Given the description of an element on the screen output the (x, y) to click on. 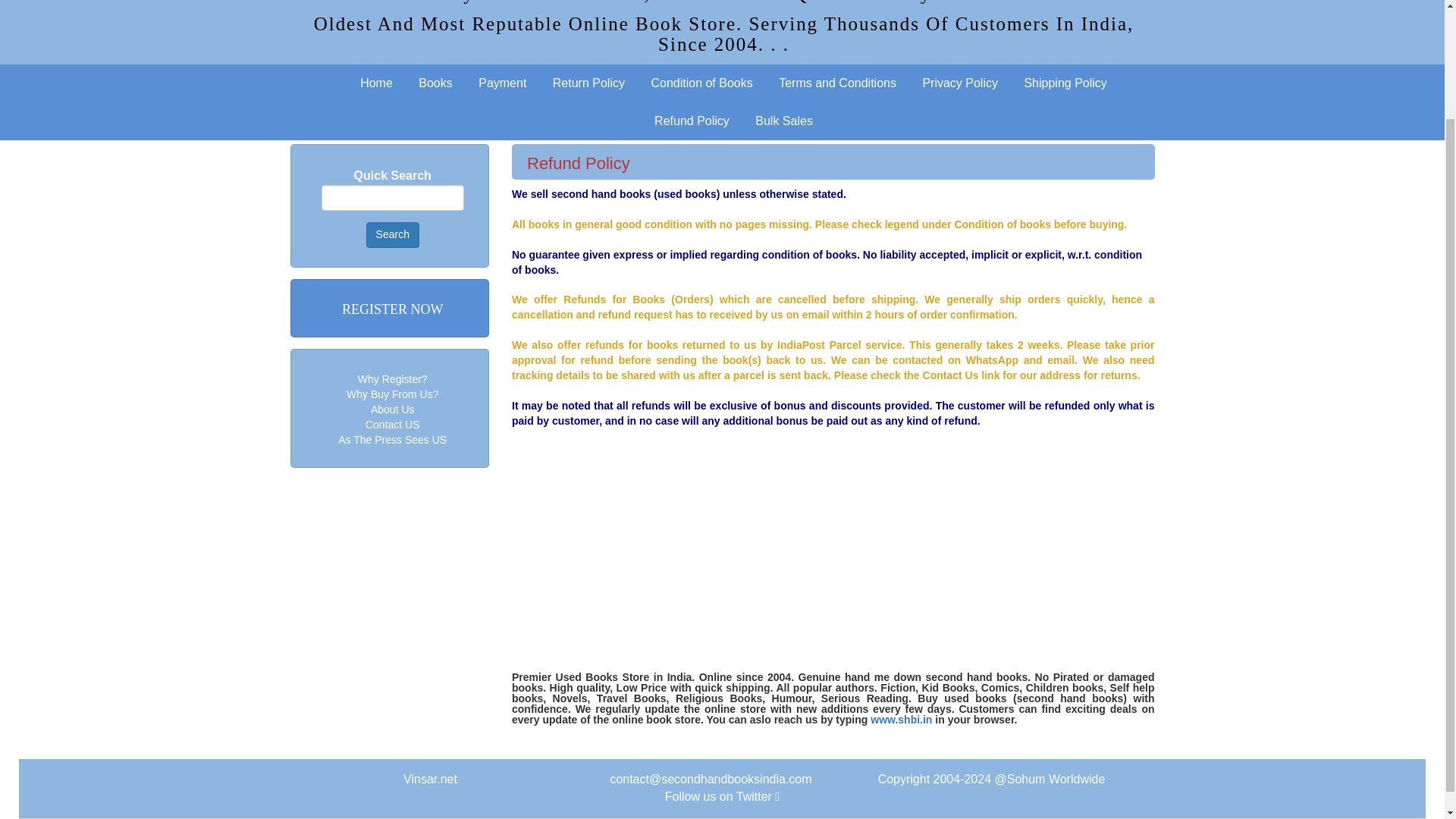
Return Policy (588, 83)
Home (376, 83)
Contact US (392, 424)
Terms and Conditions (837, 83)
REGISTER NOW (392, 309)
Condition of Books (700, 83)
Privacy Policy (960, 83)
Shipping Policy (1064, 83)
Payment (502, 83)
